Given the description of an element on the screen output the (x, y) to click on. 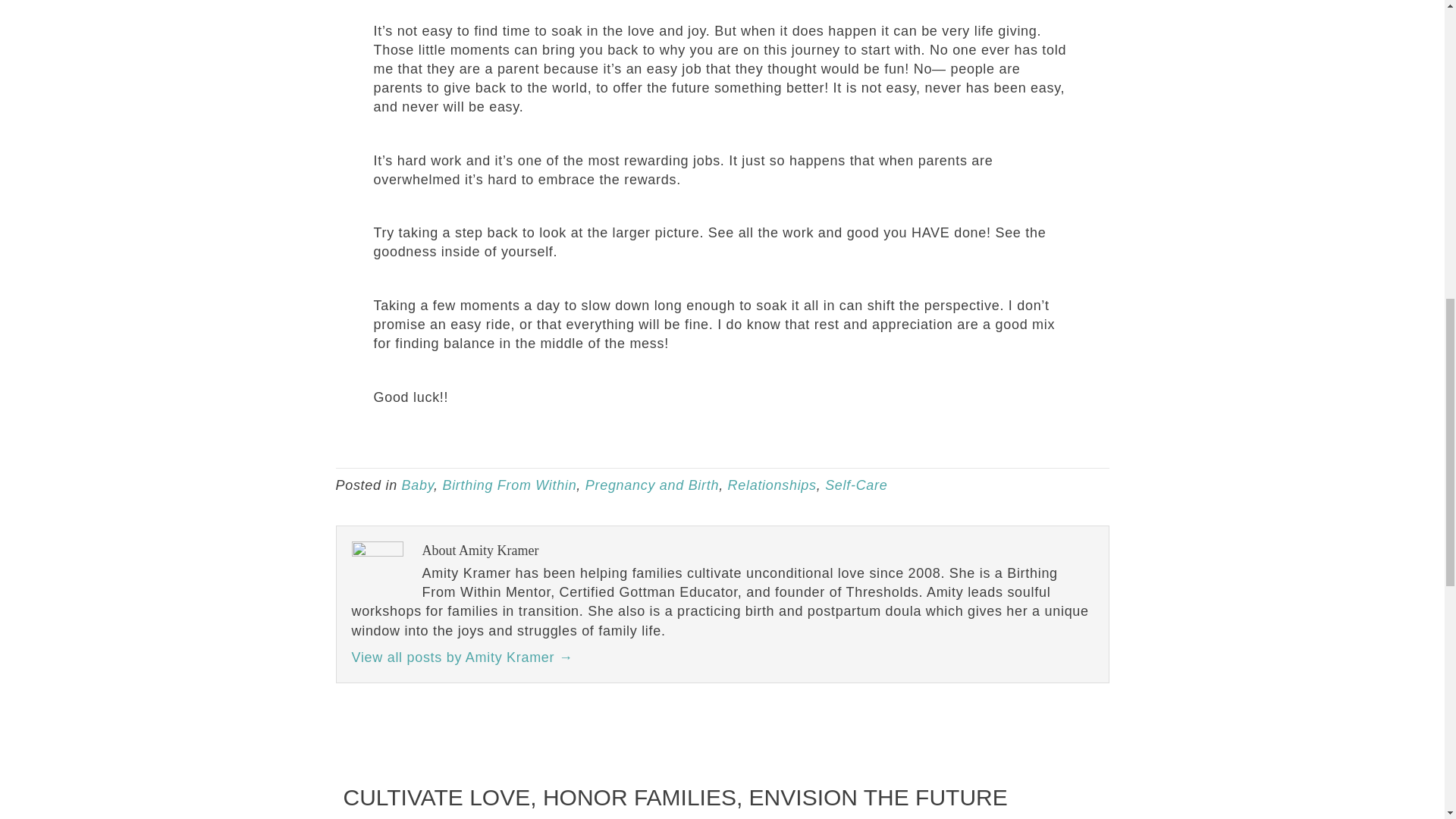
Pregnancy and Birth (652, 485)
Baby (417, 485)
Birthing From Within (509, 485)
Relationships (772, 485)
Self-Care (855, 485)
